Given the description of an element on the screen output the (x, y) to click on. 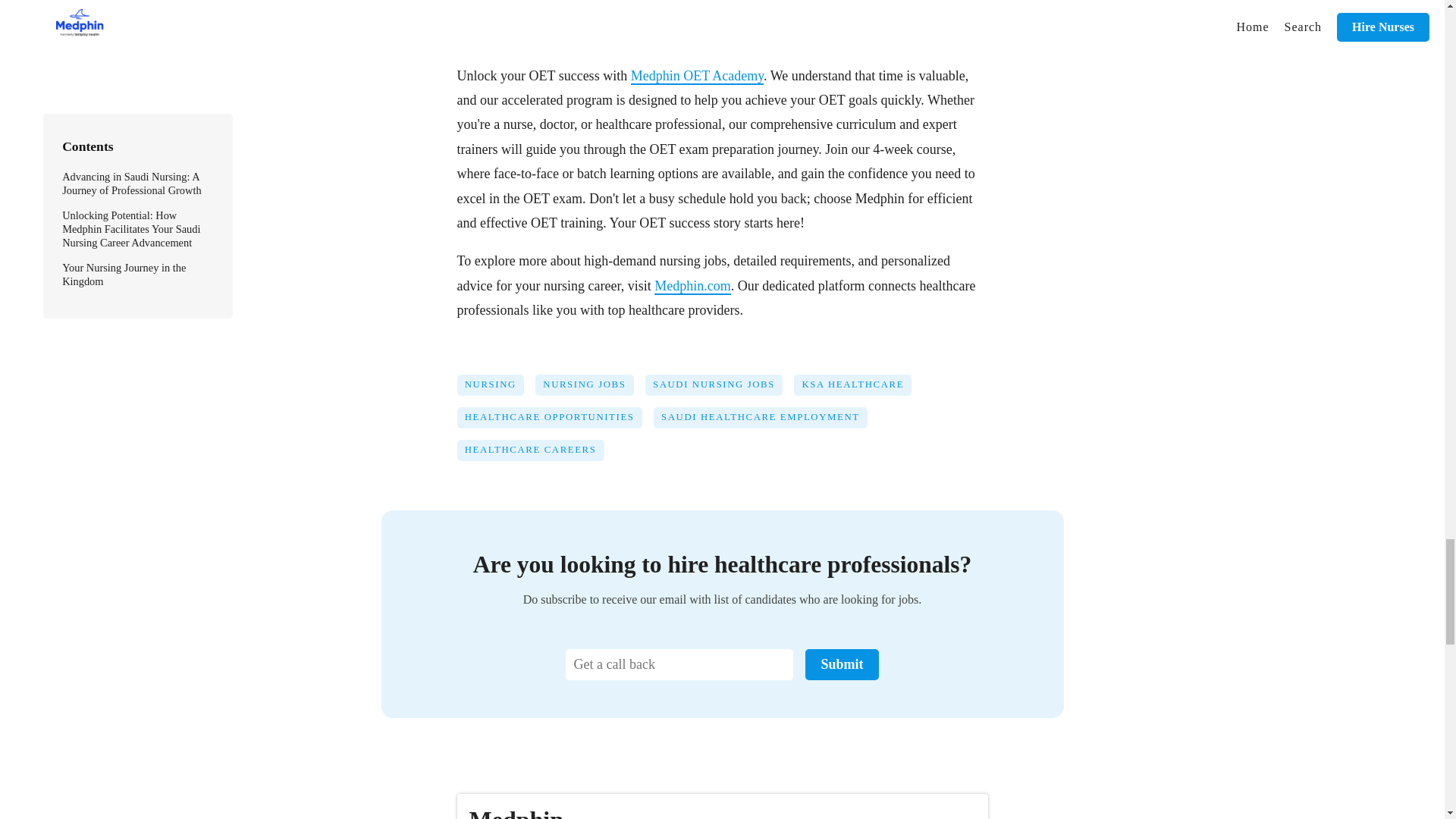
KSA HEALTHCARE (858, 390)
Medphin OET Academy (696, 76)
Medphin.com (691, 286)
HEALTHCARE OPPORTUNITIES (554, 423)
WhatsApp community (540, 13)
SAUDI NURSING JOBS (719, 390)
NURSING (496, 390)
NURSING JOBS (590, 390)
